Given the description of an element on the screen output the (x, y) to click on. 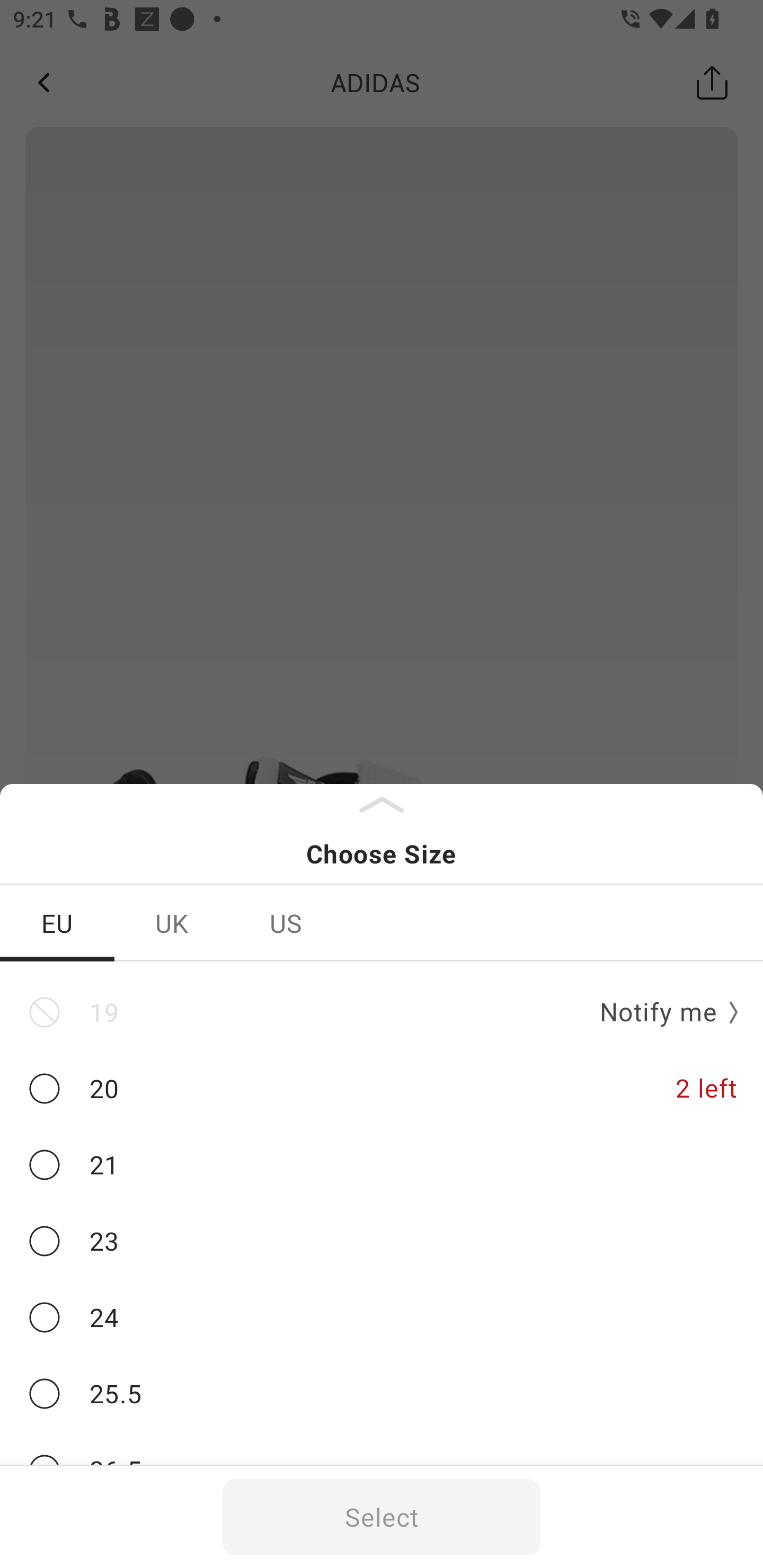
UK (171, 923)
US (285, 923)
19 Notify me (381, 1011)
Notify me (661, 1012)
20 2 left (381, 1088)
21 (381, 1164)
23 (381, 1240)
24 (381, 1317)
25.5 (381, 1393)
Select (381, 1516)
